Given the description of an element on the screen output the (x, y) to click on. 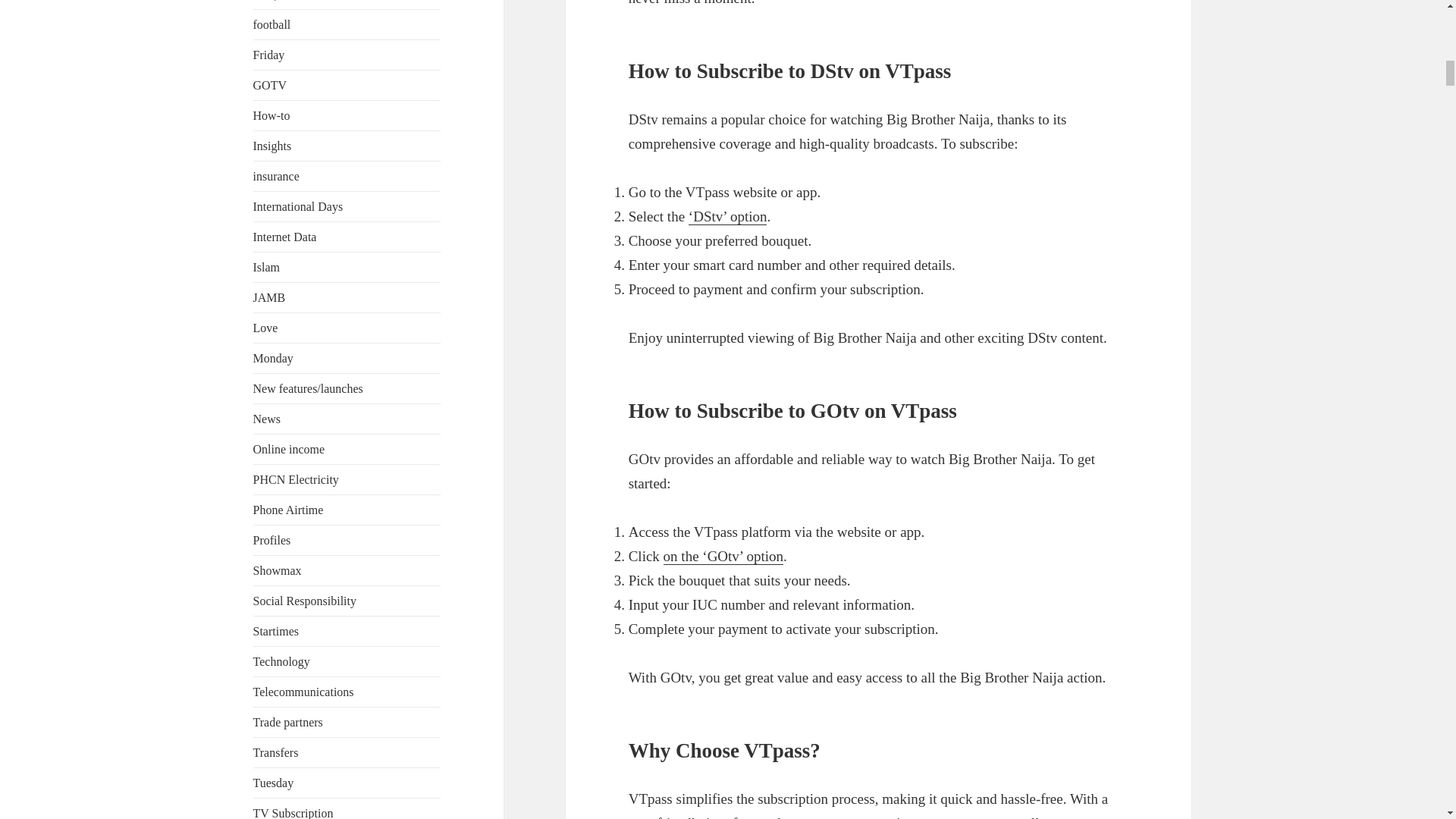
insurance (276, 175)
Insights (272, 145)
Internet Data (285, 236)
Friday (269, 54)
International Days (298, 205)
GOTV (269, 84)
Islam (267, 267)
football (272, 24)
How-to (271, 115)
